Given the description of an element on the screen output the (x, y) to click on. 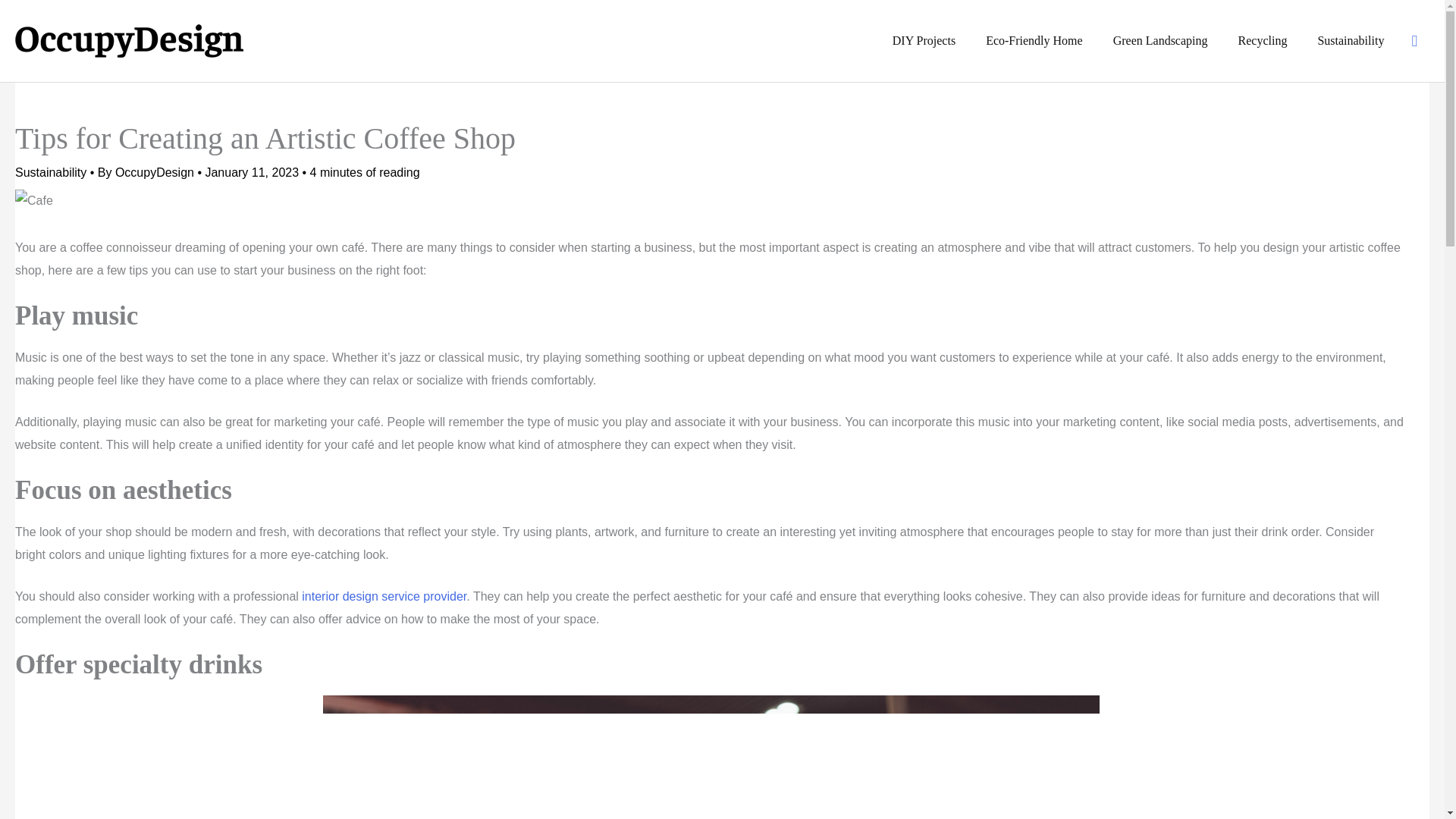
interior design service provider (383, 595)
Drink (711, 757)
Search (1413, 41)
View all posts by OccupyDesign (156, 172)
Recycling (1263, 40)
DIY Projects (924, 40)
Eco-Friendly Home (1034, 40)
Sustainability (49, 172)
Green Landscaping (1160, 40)
Sustainability (1350, 40)
OccupyDesign (156, 172)
